Given the description of an element on the screen output the (x, y) to click on. 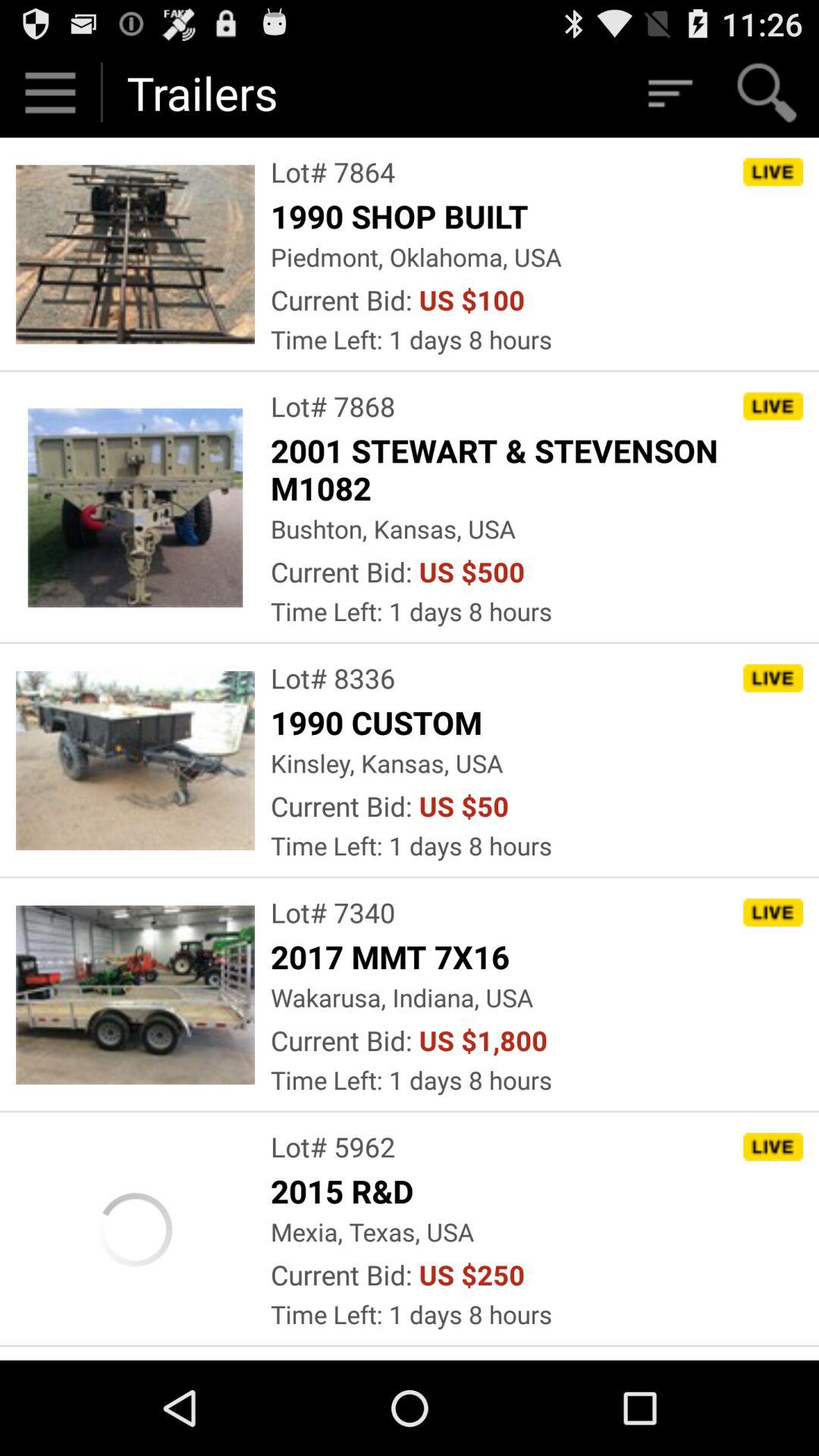
press the item to the right of the current bid:  app (471, 299)
